Given the description of an element on the screen output the (x, y) to click on. 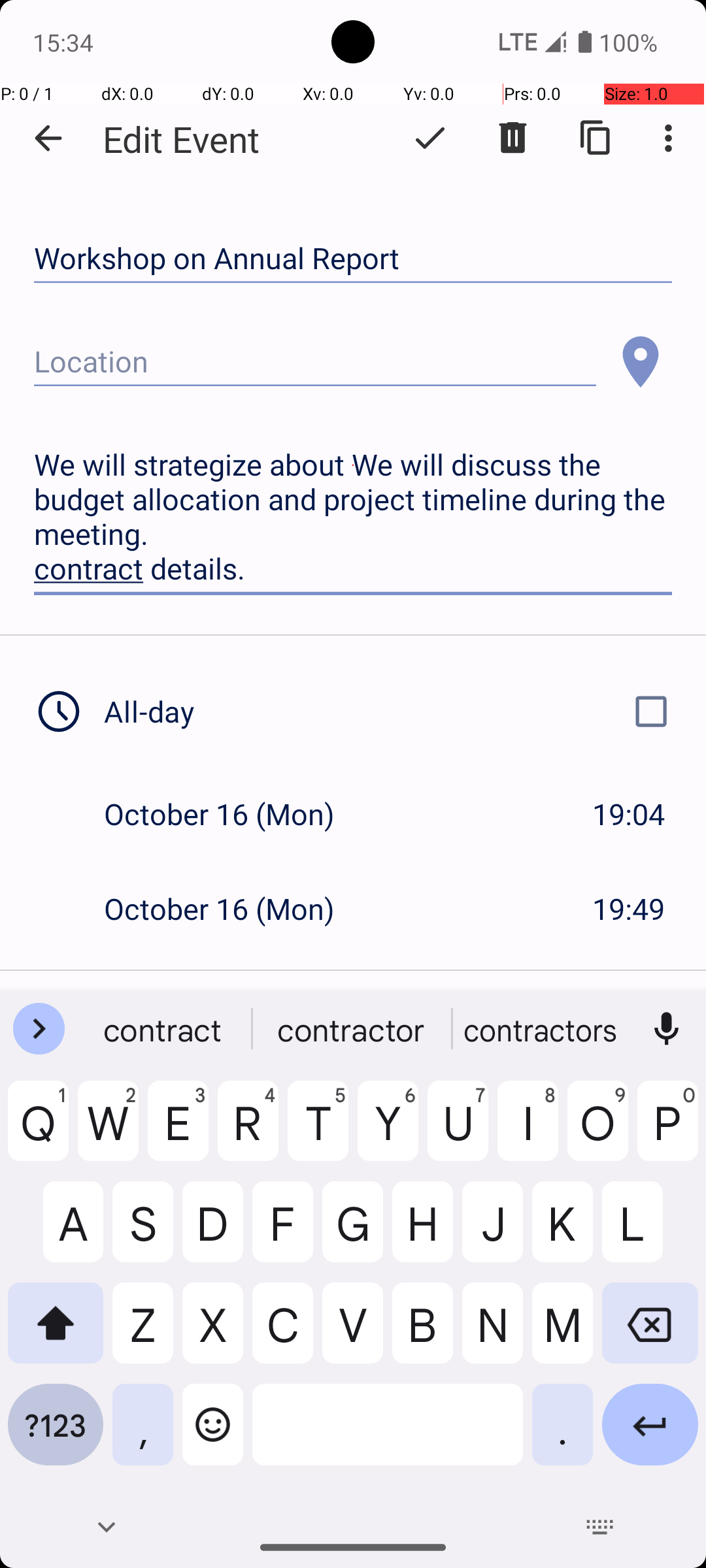
We will strategize about We will discuss the budget allocation and project timeline during the meeting.
contract details. Element type: android.widget.EditText (352, 516)
19:04 Element type: android.widget.TextView (628, 813)
19:49 Element type: android.widget.TextView (628, 908)
contract Element type: android.widget.FrameLayout (163, 1028)
contractor Element type: android.widget.FrameLayout (352, 1028)
contractors Element type: android.widget.FrameLayout (541, 1028)
